Given the description of an element on the screen output the (x, y) to click on. 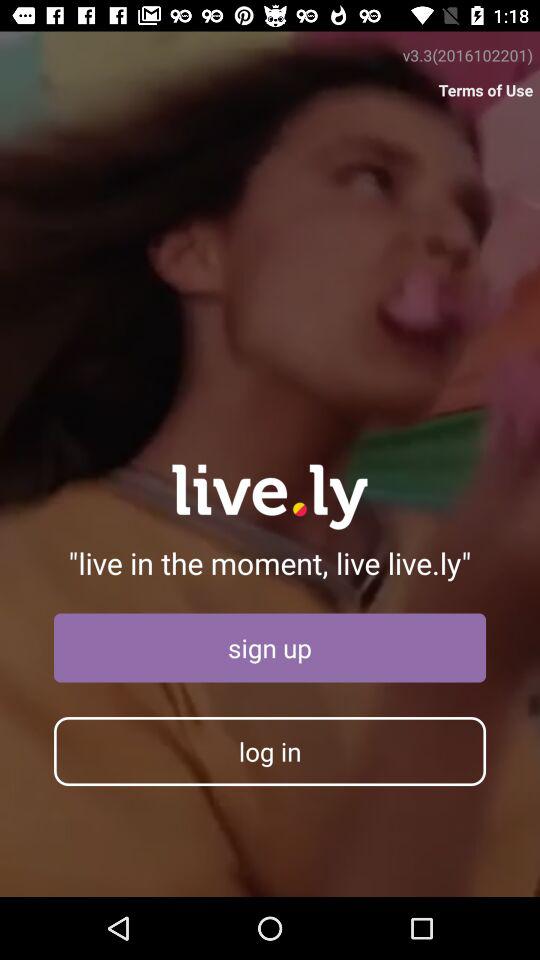
choose icon above the live in the item (486, 89)
